Given the description of an element on the screen output the (x, y) to click on. 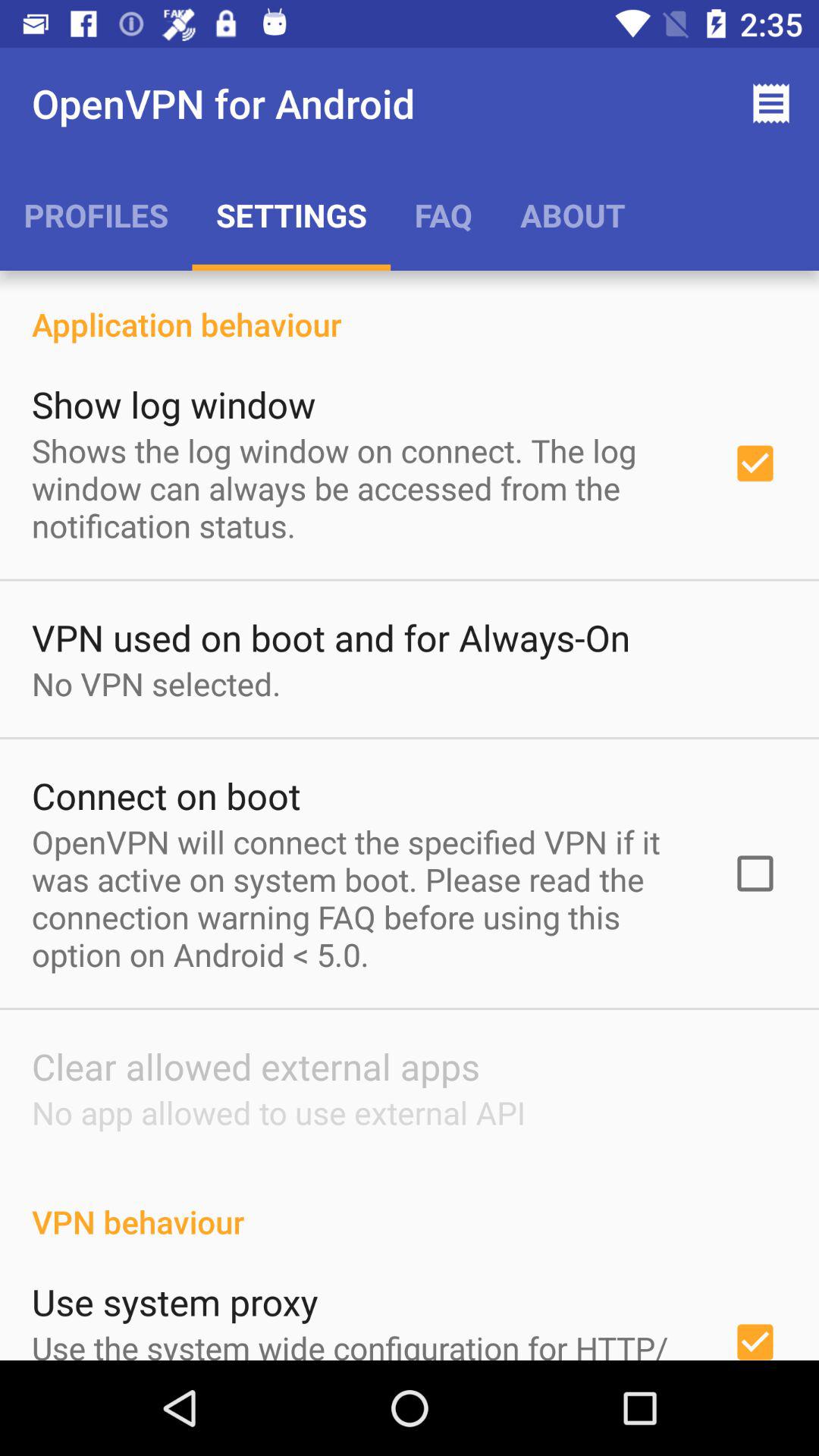
open the app above the application behaviour item (96, 214)
